Given the description of an element on the screen output the (x, y) to click on. 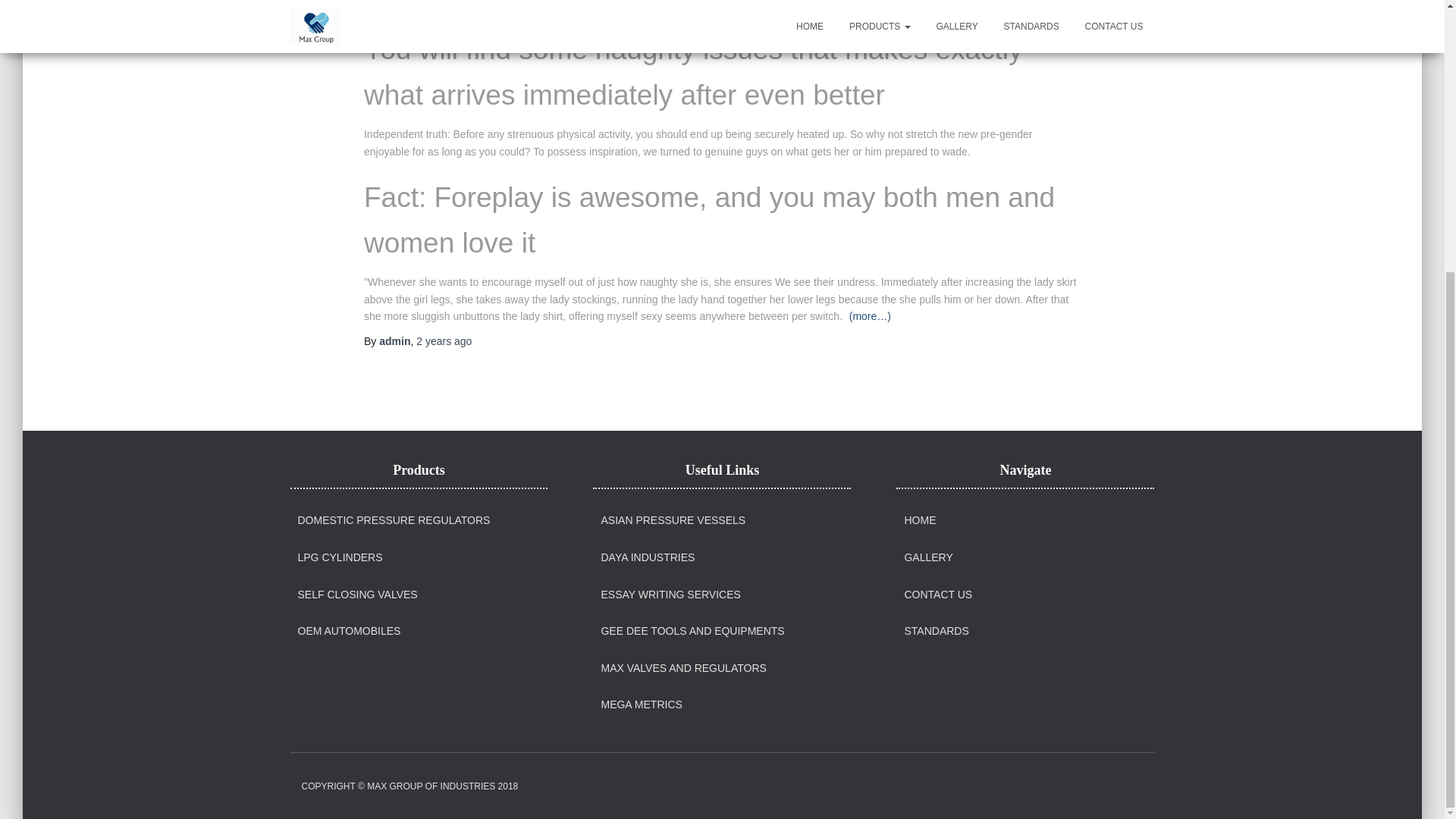
GEE DEE TOOLS AND EQUIPMENTS (691, 631)
MEGA METRICS (640, 704)
ESSAY WRITING SERVICES (669, 594)
OEM AUTOMOBILES (348, 631)
MAX VALVES AND REGULATORS (682, 668)
CONTACT US (938, 594)
DAYA INDUSTRIES (646, 557)
SELF CLOSING VALVES (356, 594)
37 Foreplay Tips You to Push People Nuts (532, 4)
LPG CYLINDERS (339, 557)
GALLERY (928, 557)
HOME (920, 520)
STANDARDS (936, 631)
admin (394, 340)
2 years ago (443, 340)
